Given the description of an element on the screen output the (x, y) to click on. 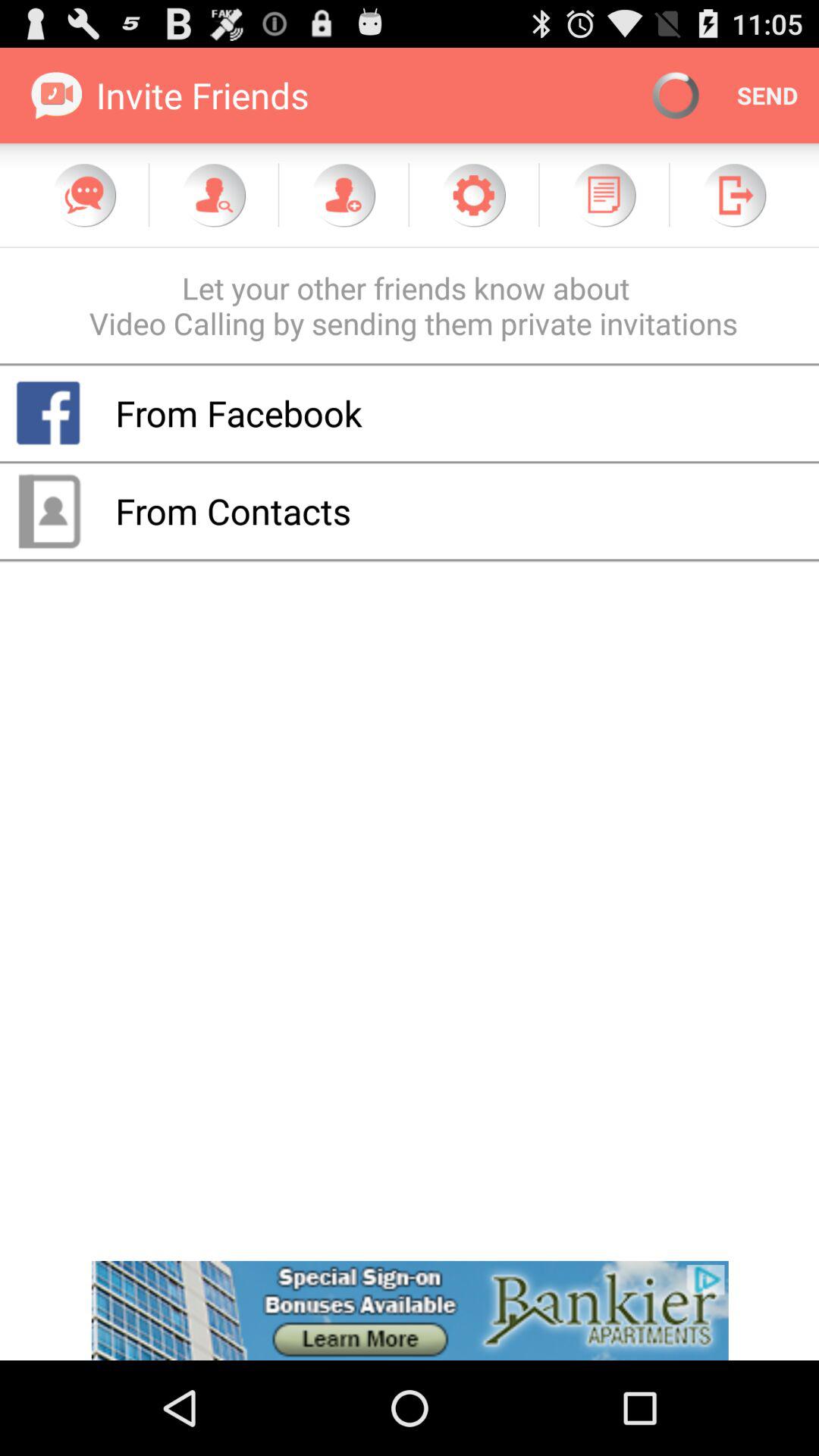
add friend (343, 194)
